Given the description of an element on the screen output the (x, y) to click on. 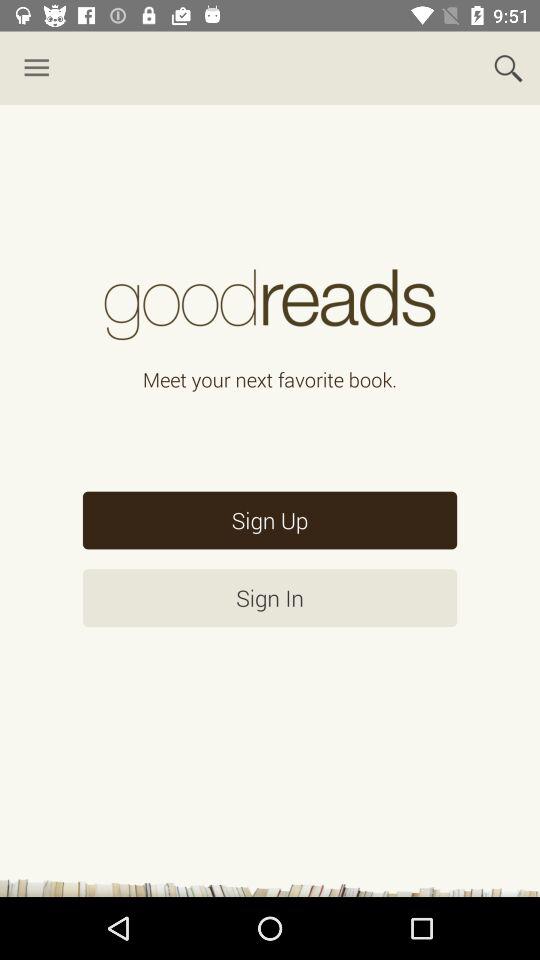
choose sign in (269, 597)
